Given the description of an element on the screen output the (x, y) to click on. 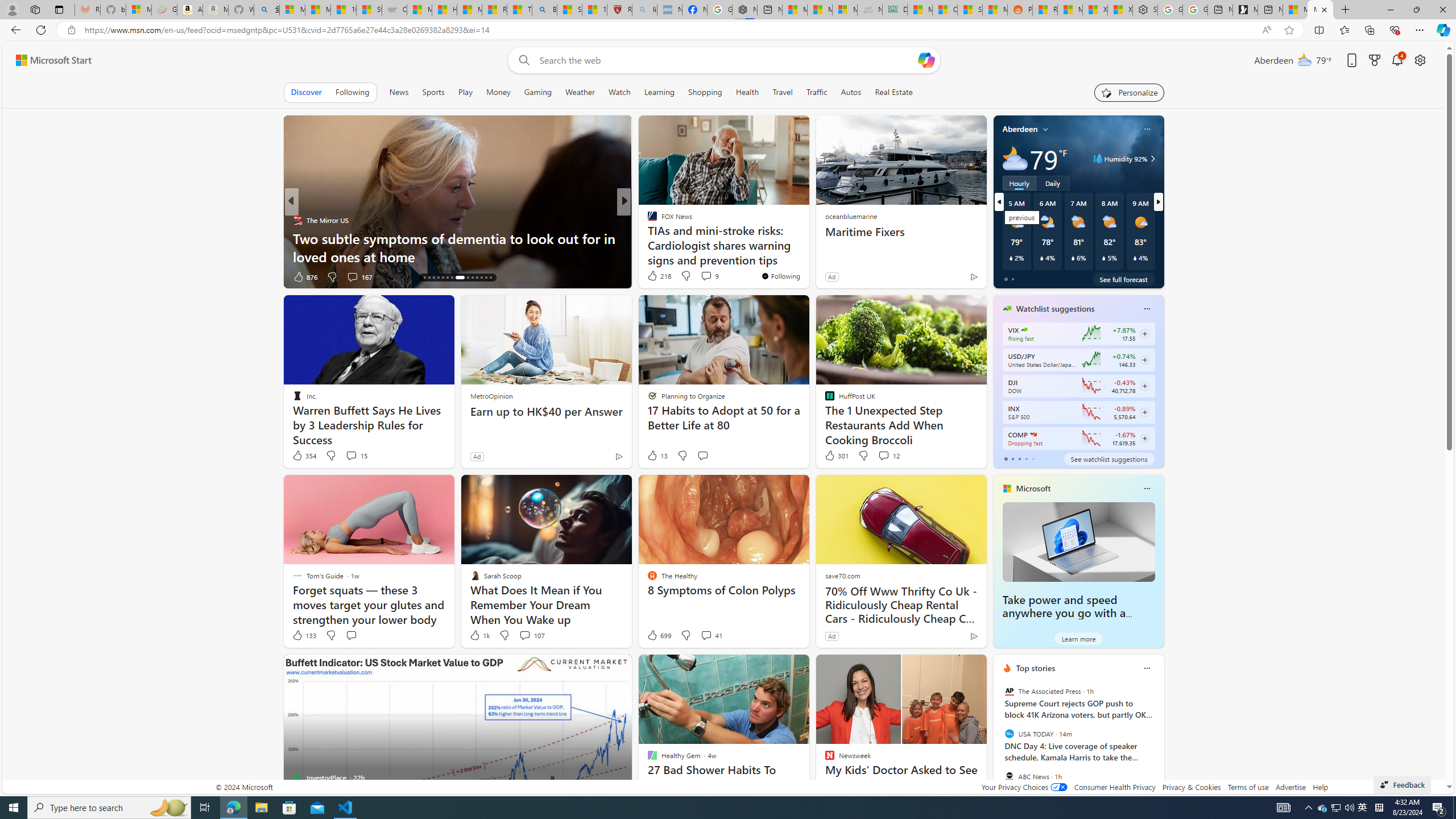
Class: weather-current-precipitation-glyph (1134, 257)
My location (1045, 128)
Aberdeen (1019, 128)
View comments 41 Comment (710, 634)
Enter your search term (726, 59)
8 Like (651, 276)
AutomationID: tab-25 (476, 277)
1k Like (478, 634)
